Given the description of an element on the screen output the (x, y) to click on. 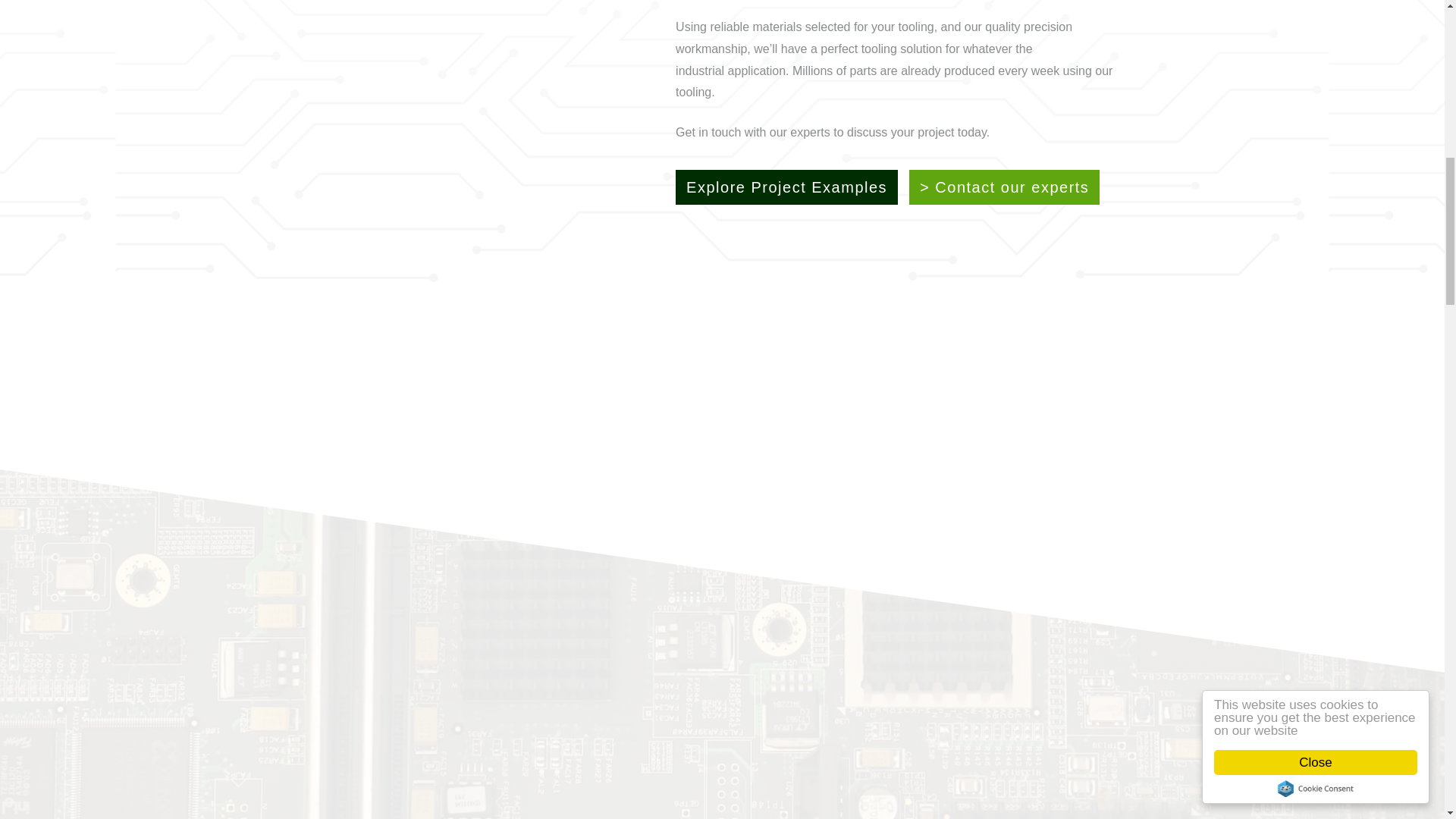
Explore Project Examples (786, 186)
